Given the description of an element on the screen output the (x, y) to click on. 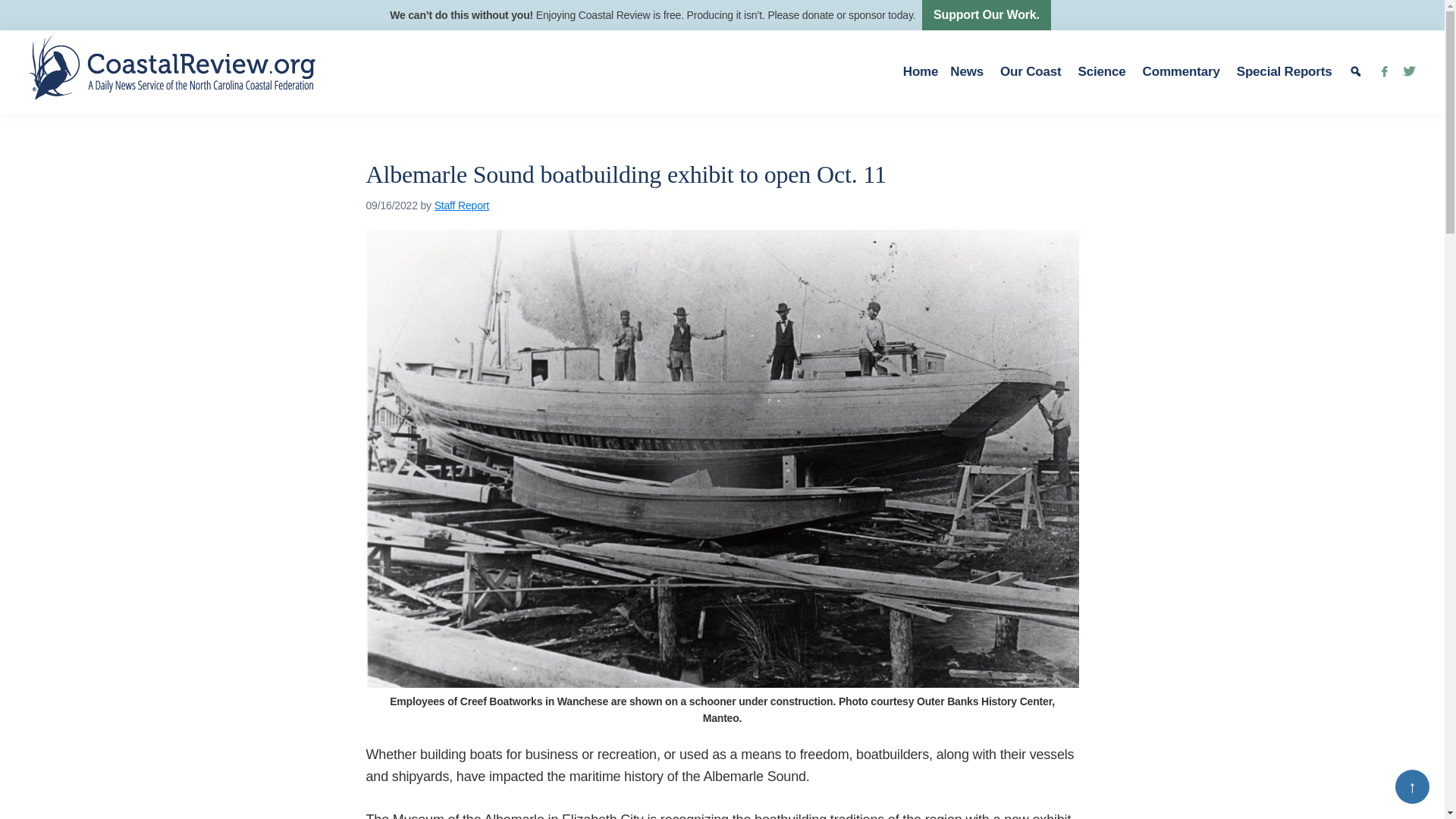
Support Our Work. (986, 15)
Support Our Work (986, 15)
Our Coast (1032, 71)
